Given the description of an element on the screen output the (x, y) to click on. 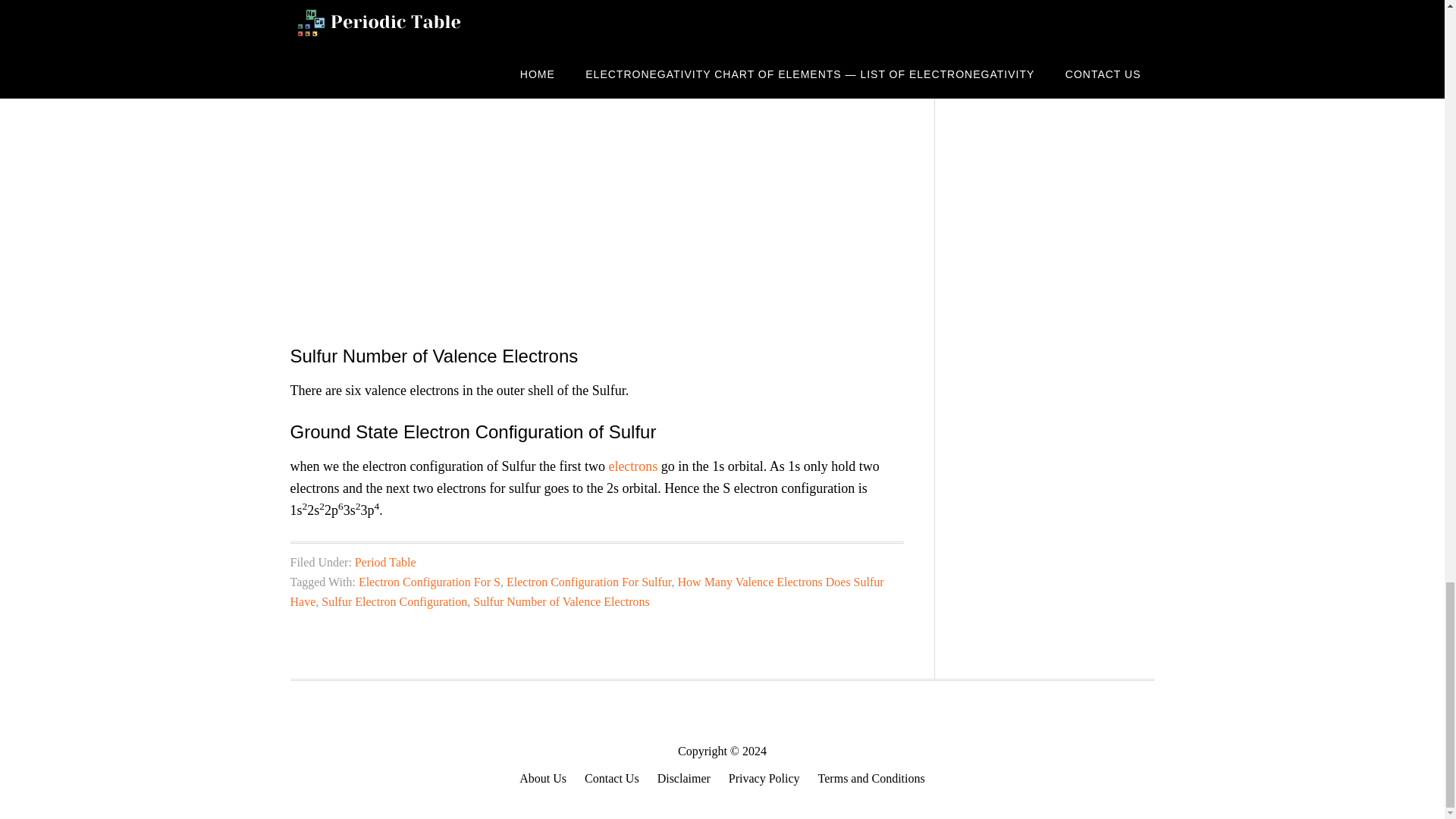
Electron Configuration For Sulfur (588, 581)
Sulfur Number of Valence Electrons (561, 601)
electrons (633, 466)
Sulfur Electron Configuration (394, 601)
Electron Configuration For S (429, 581)
Period Table (385, 562)
How Many Valence Electrons Does Sulfur Have (586, 591)
